Given the description of an element on the screen output the (x, y) to click on. 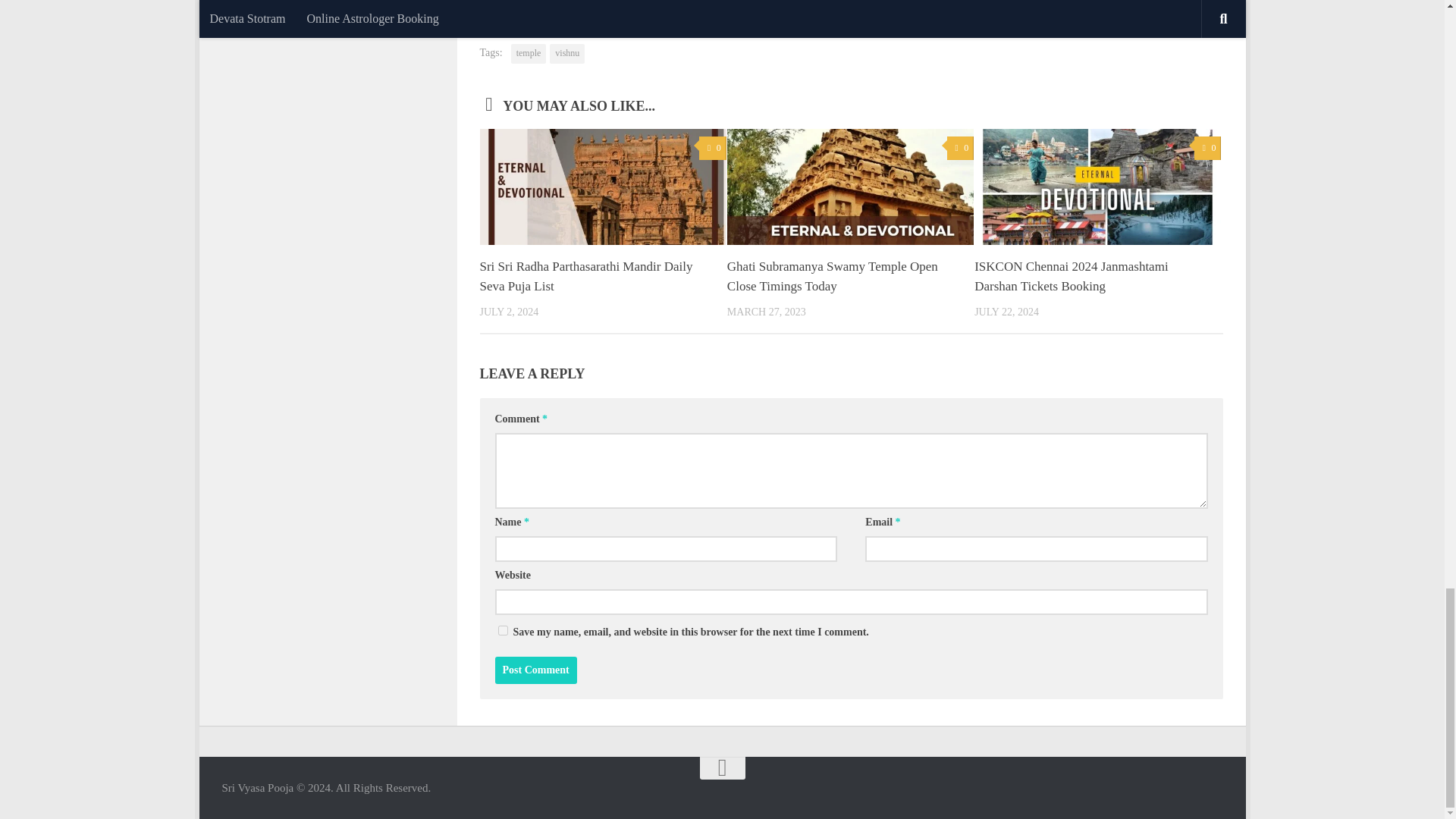
Post Comment (535, 669)
vishnu (567, 53)
temple (529, 53)
Sri Sri Radha Parthasarathi Mandir Daily Seva Puja List (586, 276)
Ghati Subramanya Swamy Temple Open Close Timings Today (831, 276)
yes (501, 629)
ISKCON Chennai 2024 Janmashtami Darshan Tickets Booking (1070, 276)
Post Comment (535, 669)
0 (711, 147)
0 (960, 147)
